Given the description of an element on the screen output the (x, y) to click on. 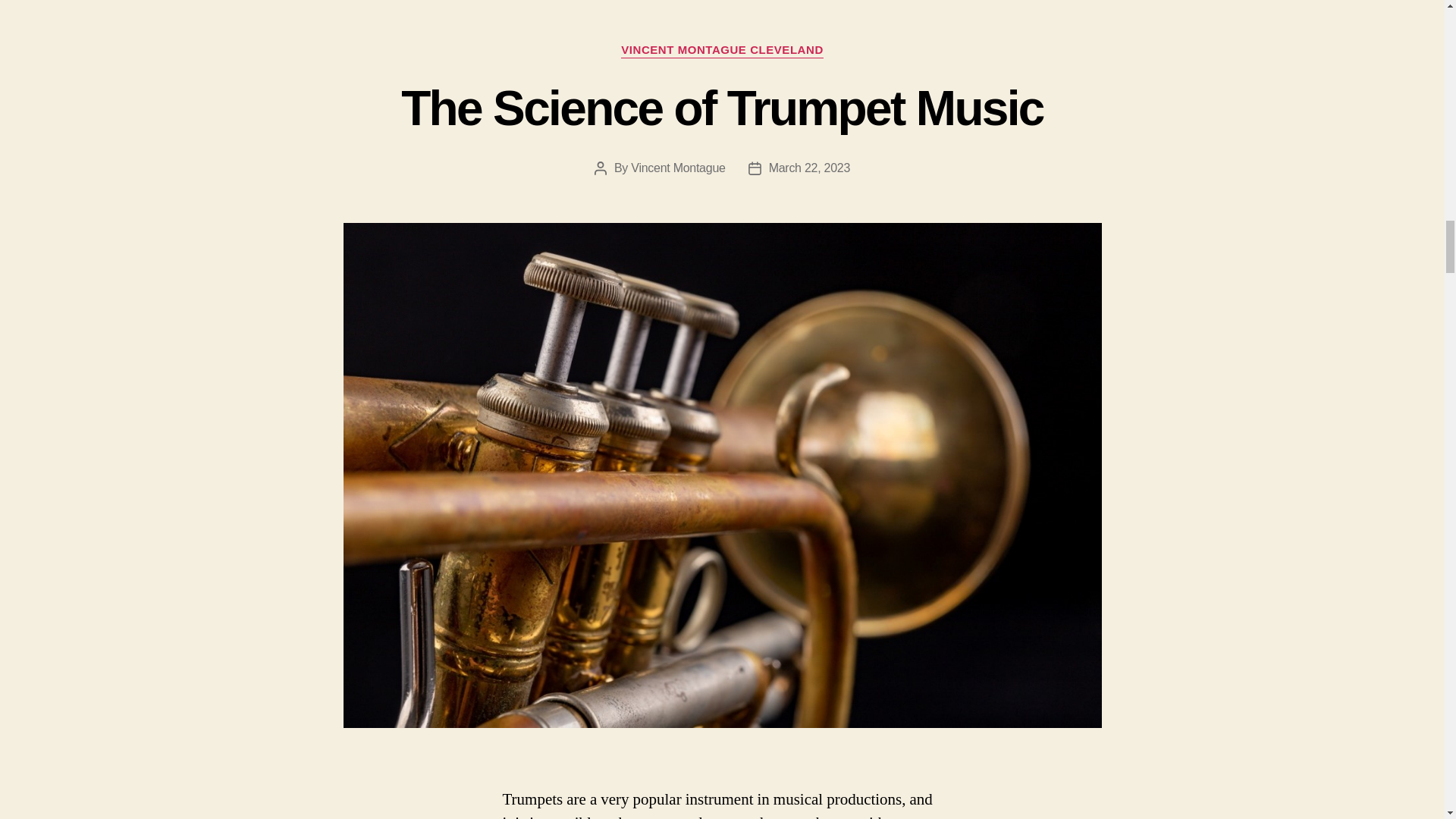
Vincent Montague (677, 167)
March 22, 2023 (809, 167)
VINCENT MONTAGUE CLEVELAND (722, 50)
The Science of Trumpet Music (722, 108)
